Given the description of an element on the screen output the (x, y) to click on. 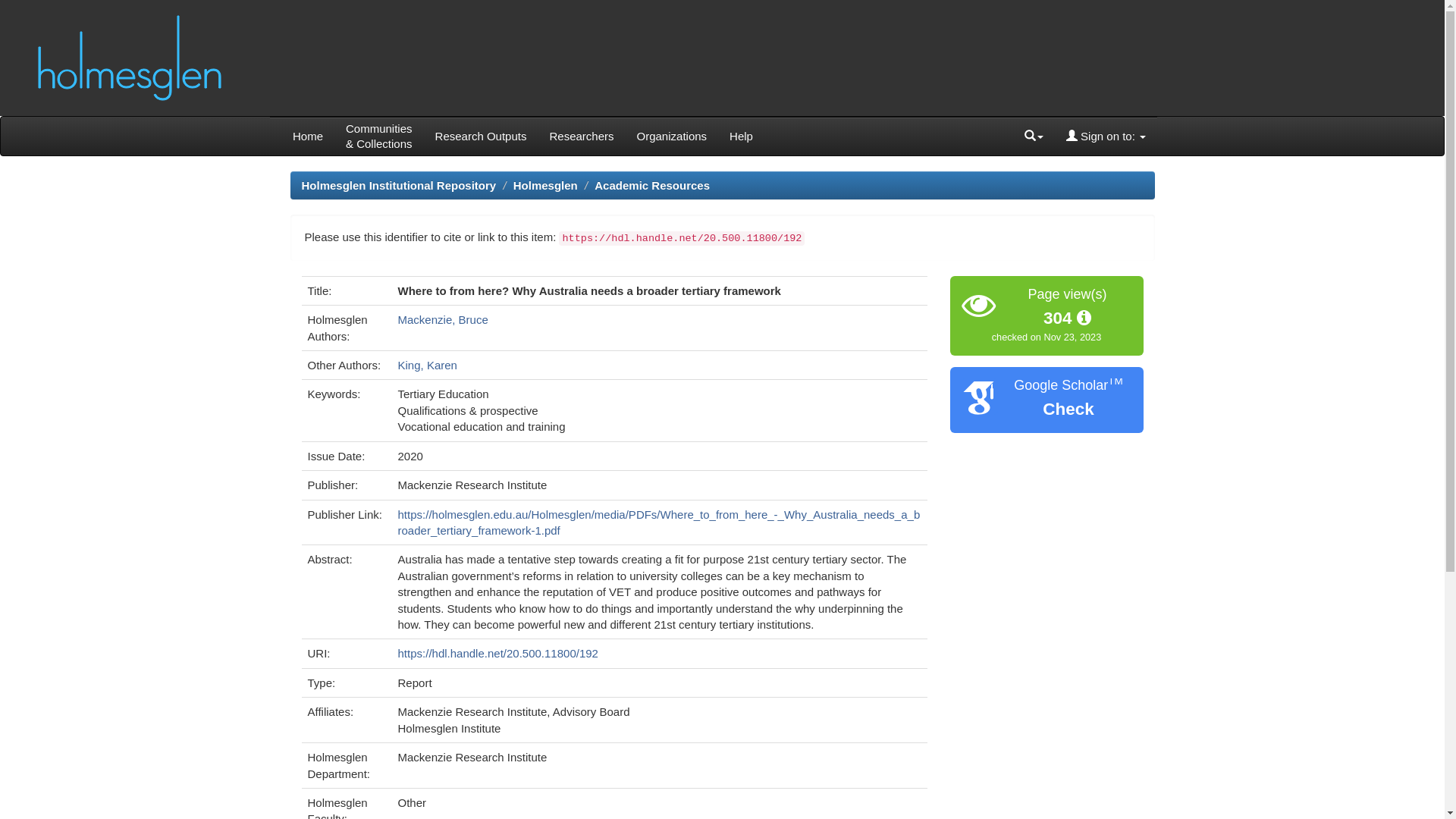
Communities
& Collections Element type: text (378, 135)
Help Element type: text (741, 136)
304 Element type: text (1067, 318)
Academic Resources Element type: text (651, 184)
King, Karen Element type: text (427, 364)
Holmesglen Institutional Repository Element type: text (398, 184)
https://hdl.handle.net/20.500.11800/192 Element type: text (498, 652)
Research Outputs Element type: text (480, 136)
Organizations Element type: text (671, 136)
Holmesglen Element type: text (545, 184)
Mackenzie, Bruce Element type: text (443, 319)
Sign on to: Element type: text (1105, 136)
Researchers Element type: text (580, 136)
Home Element type: text (307, 136)
Check Element type: text (1068, 408)
